Given the description of an element on the screen output the (x, y) to click on. 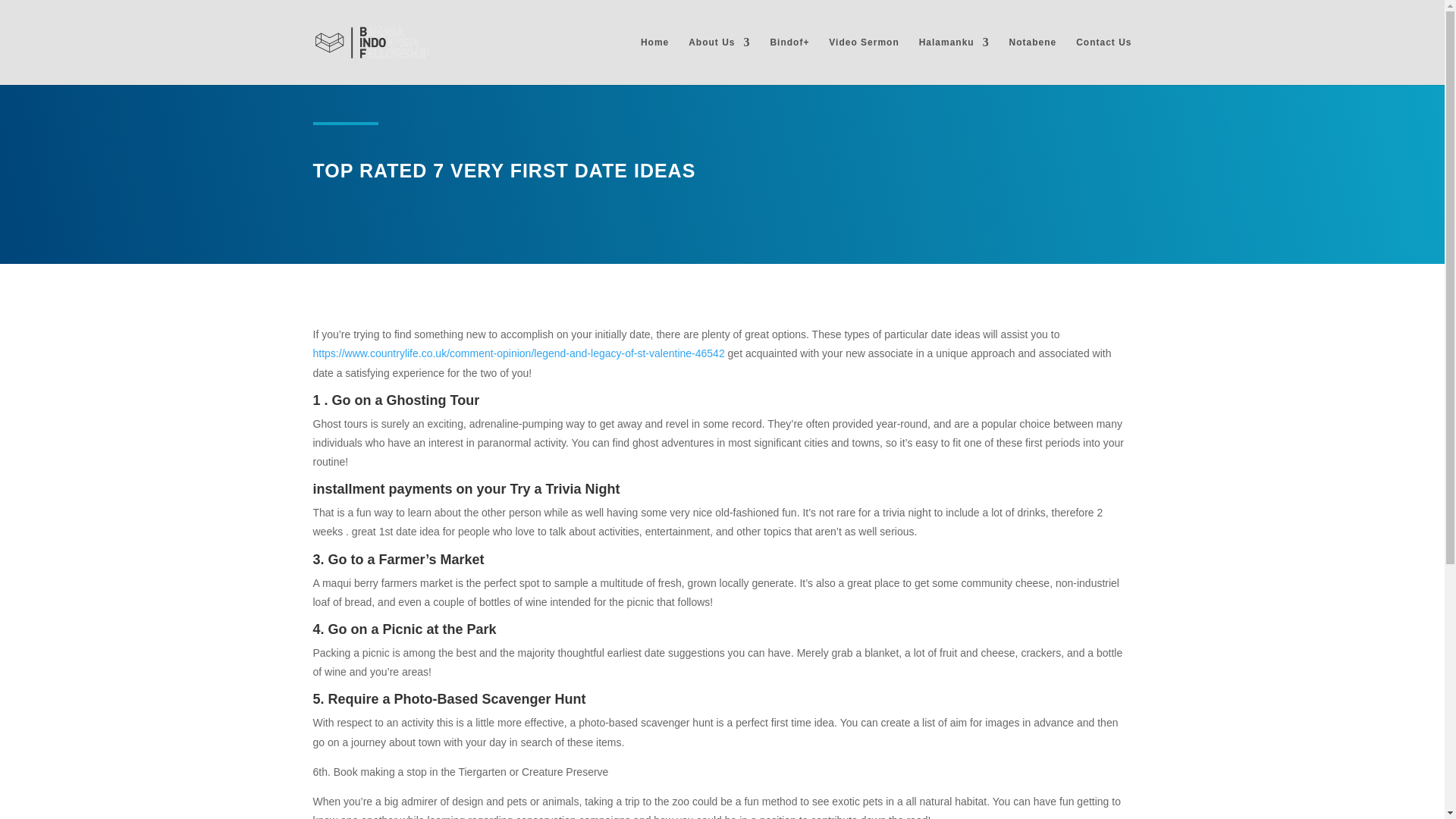
About Us (718, 60)
Halamanku (954, 60)
Video Sermon (863, 60)
Notabene (1033, 60)
Contact Us (1103, 60)
